Given the description of an element on the screen output the (x, y) to click on. 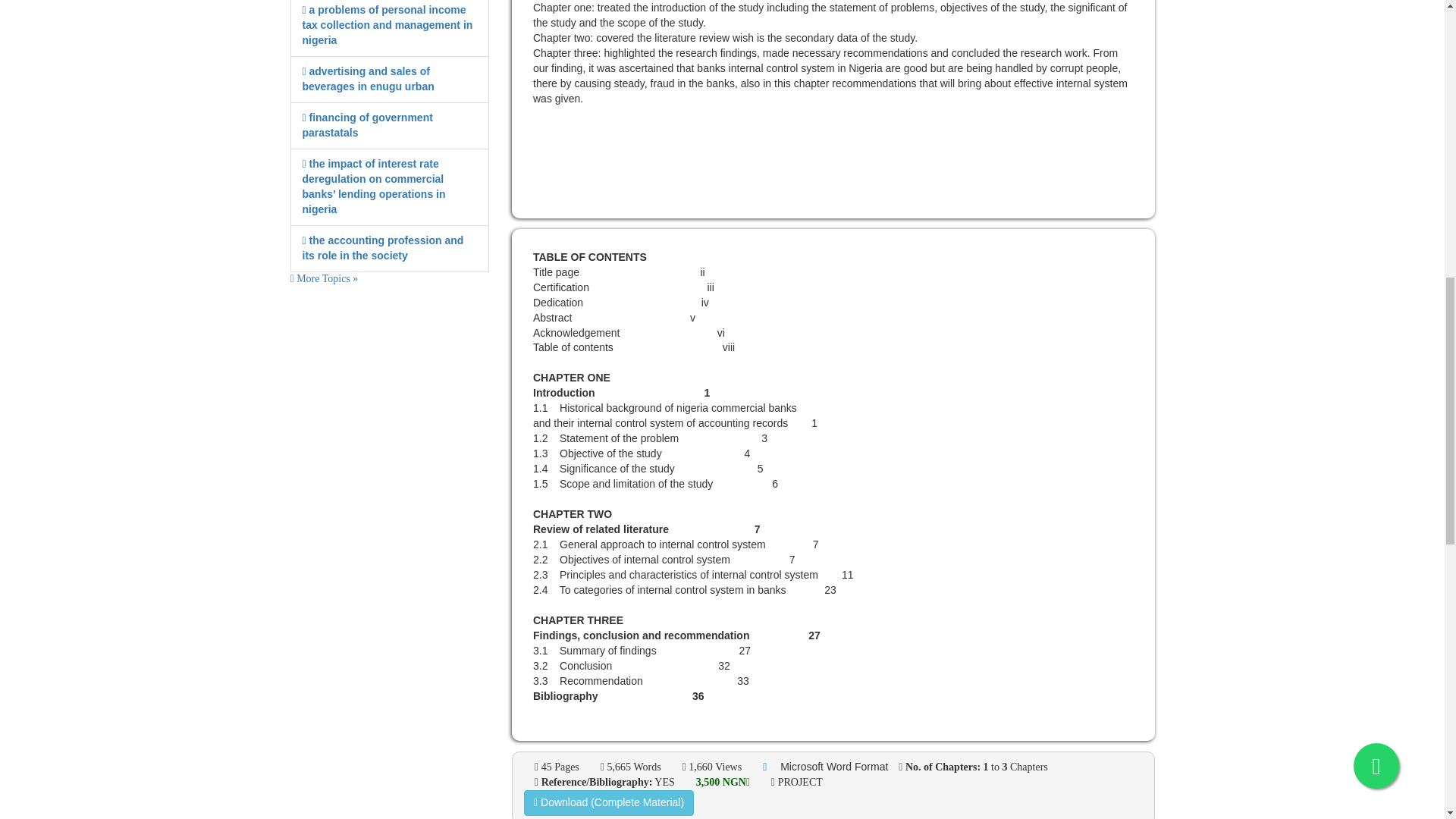
the accounting profession and its role in the society (382, 247)
advertising and sales of beverages in enugu urban (367, 78)
financing of government parastatals (366, 124)
the accounting profession and its role in the society (382, 247)
advertising and sales of beverages in enugu urban  (367, 78)
financing of government parastatals (366, 124)
